Given the description of an element on the screen output the (x, y) to click on. 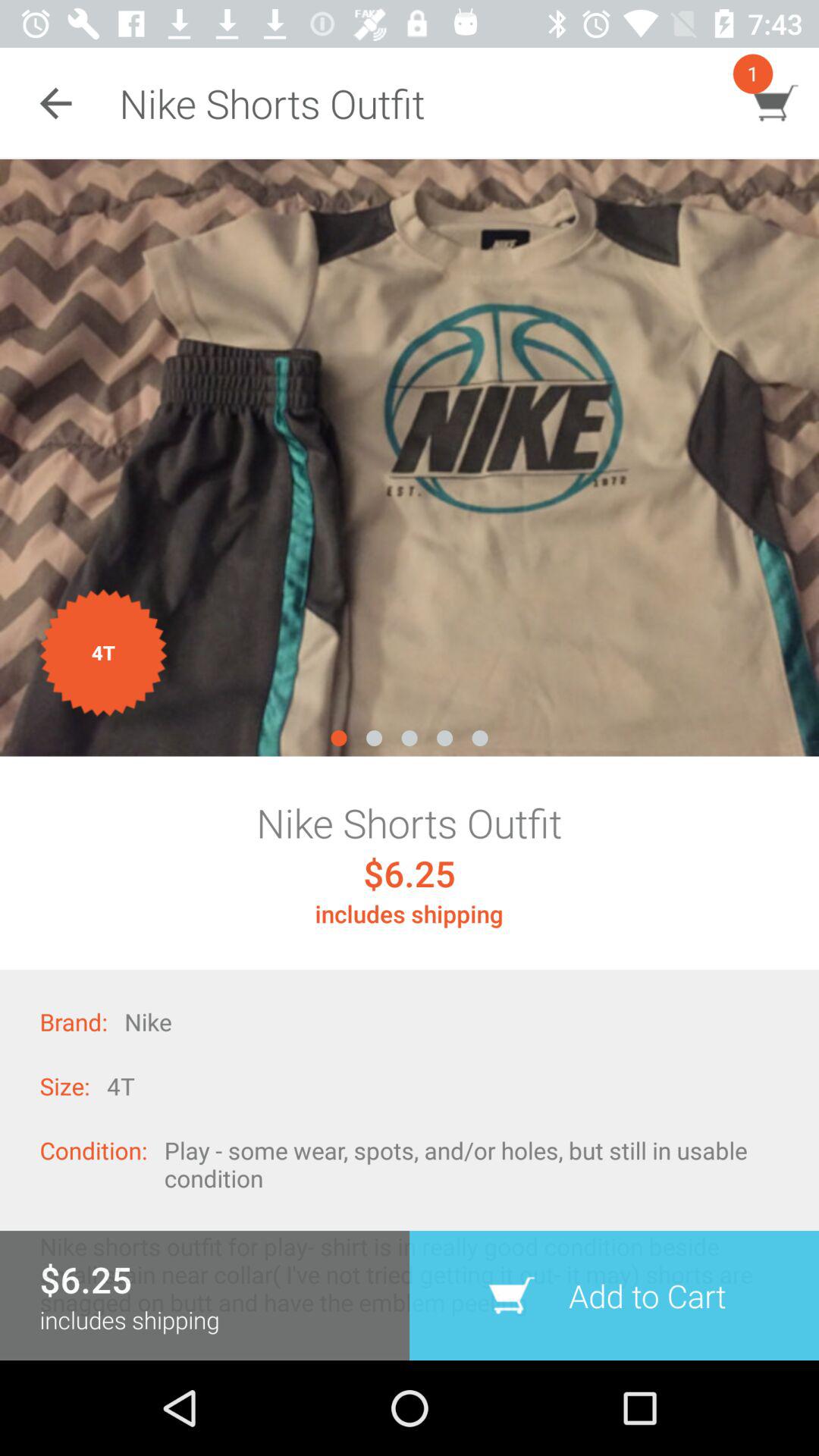
select the add to cart icon (614, 1295)
